Given the description of an element on the screen output the (x, y) to click on. 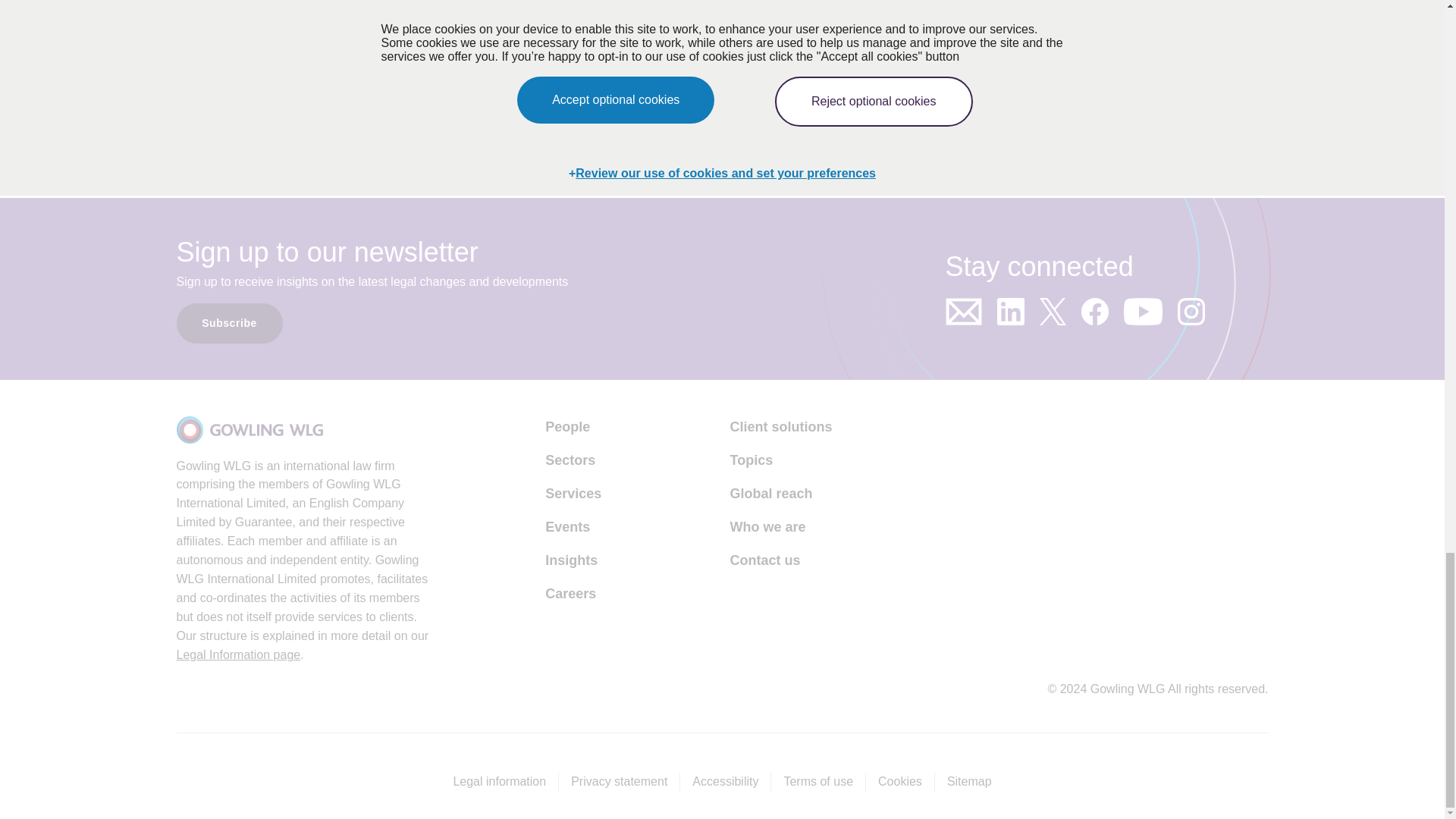
Subscribe (229, 323)
Legal Information page (237, 654)
